Given the description of an element on the screen output the (x, y) to click on. 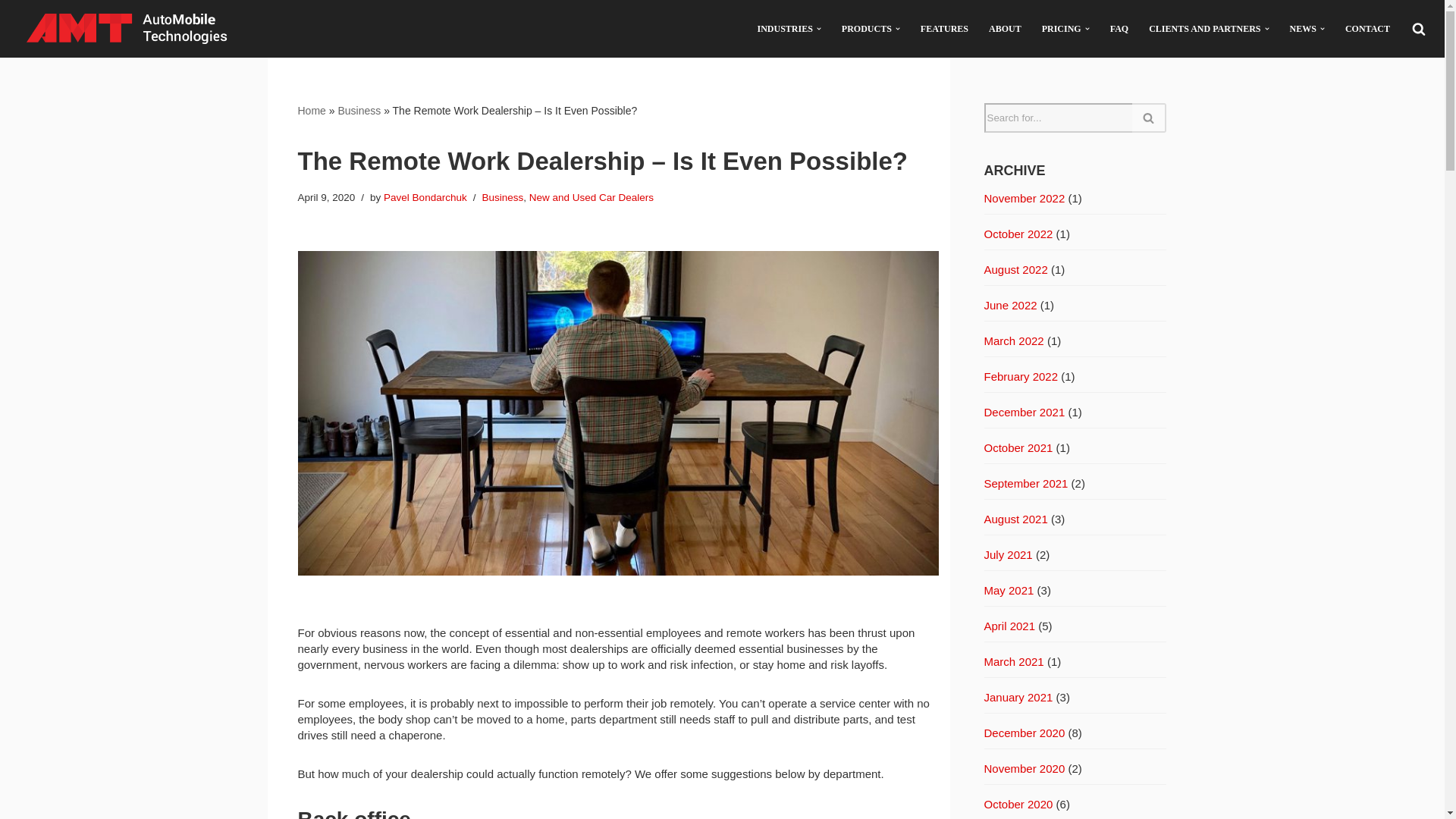
ABOUT (1005, 28)
FEATURES (944, 28)
Posts by Pavel Bondarchuk (425, 197)
INDUSTRIES (784, 28)
FAQ (1118, 28)
PRODUCTS (866, 28)
PRICING (1061, 28)
NEWS (1303, 28)
Skip to content (11, 31)
CLIENTS AND PARTNERS (1204, 28)
